Given the description of an element on the screen output the (x, y) to click on. 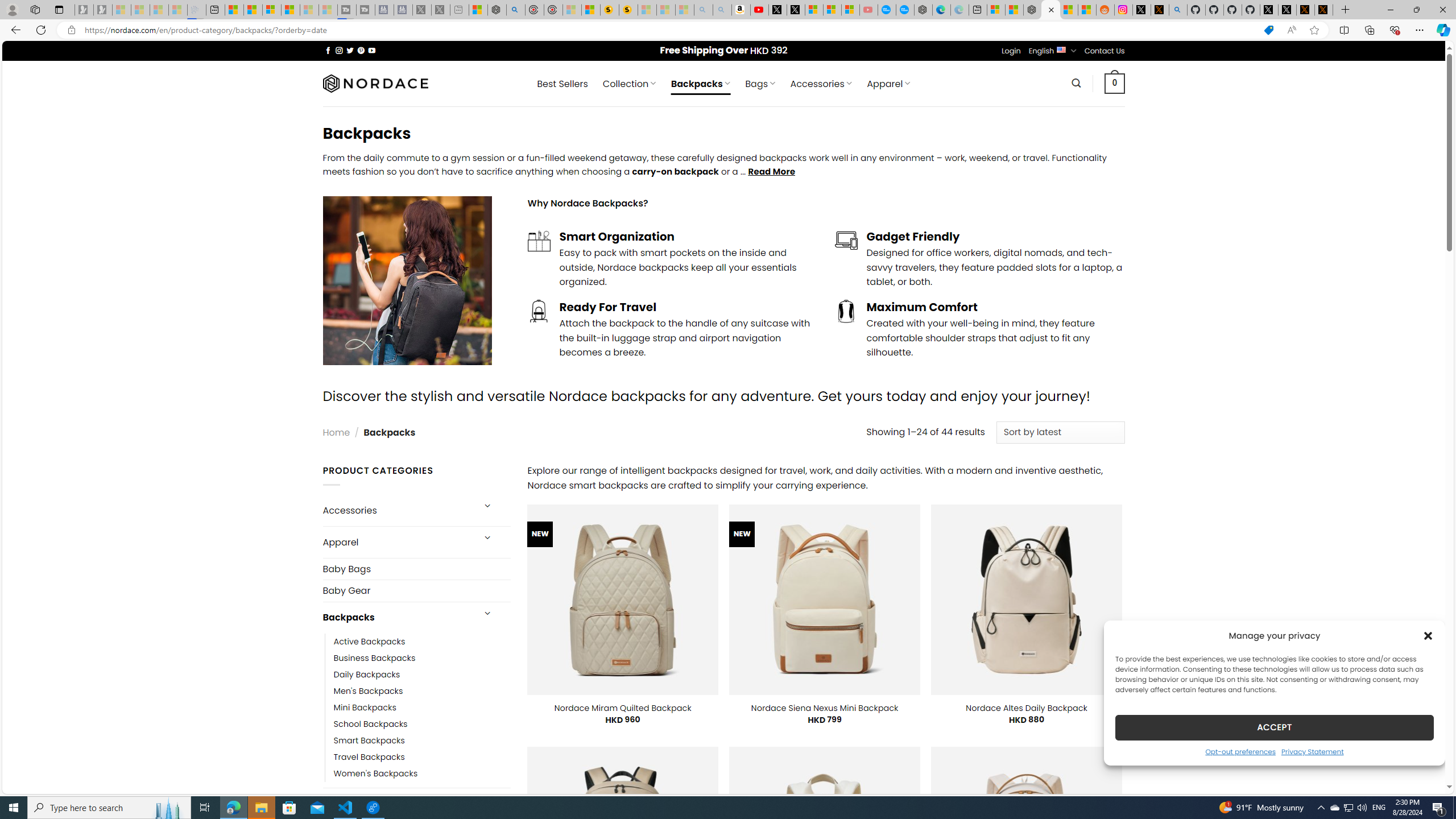
Follow on Twitter (349, 49)
Newsletter Sign Up - Sleeping (102, 9)
Mini Backpacks (364, 706)
 Best Sellers (562, 83)
Business Backpacks (422, 657)
  0   (1115, 83)
Men's Backpacks (422, 690)
help.x.com | 524: A timeout occurred (1159, 9)
